Given the description of an element on the screen output the (x, y) to click on. 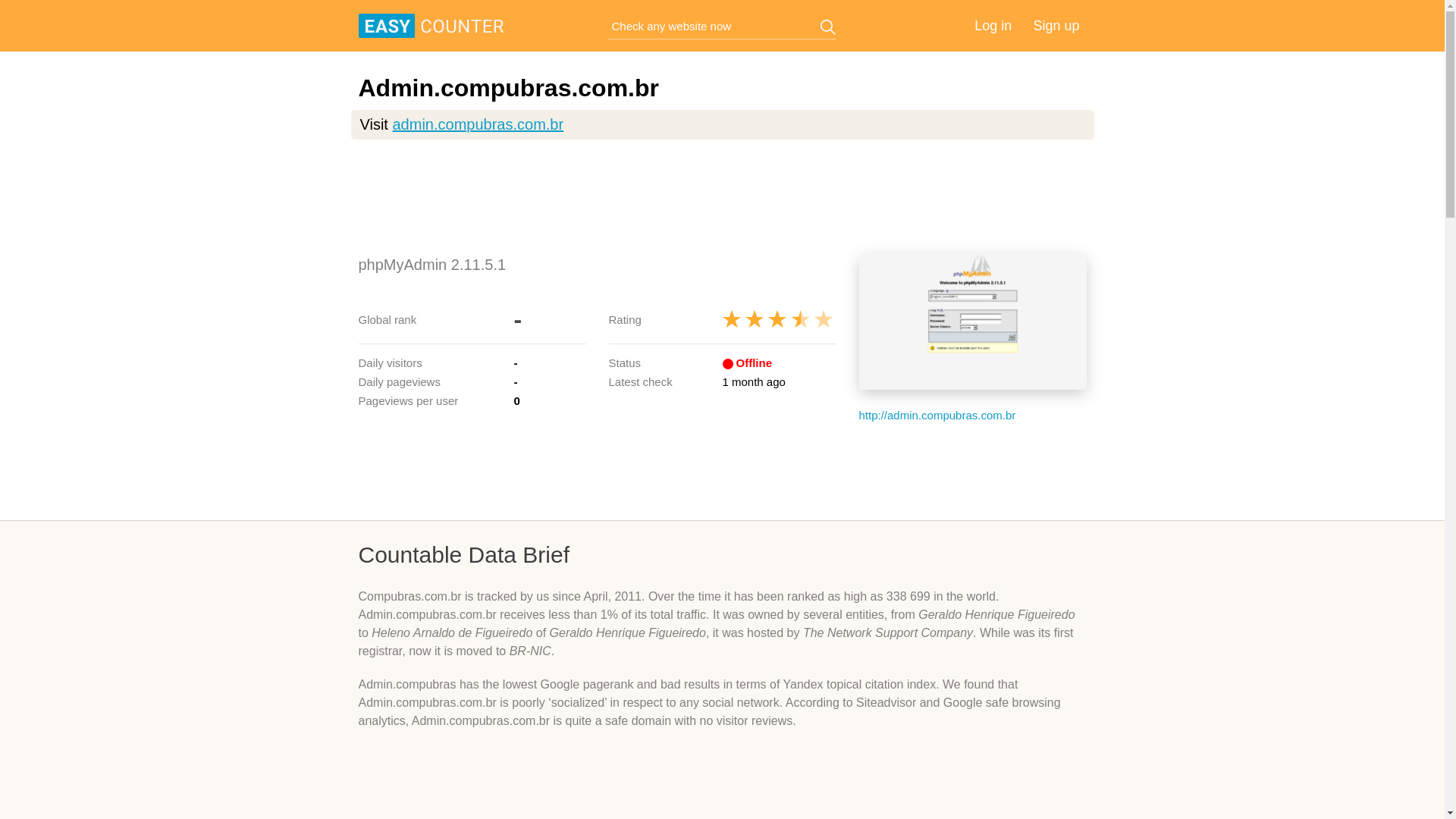
Advertisement (722, 470)
Advertisement (722, 785)
Sign up (1056, 25)
Advertisement (722, 196)
admin.compubras.com.br (477, 124)
Log in (992, 25)
Admin.compubras.com.br thumbnail (972, 321)
